Given the description of an element on the screen output the (x, y) to click on. 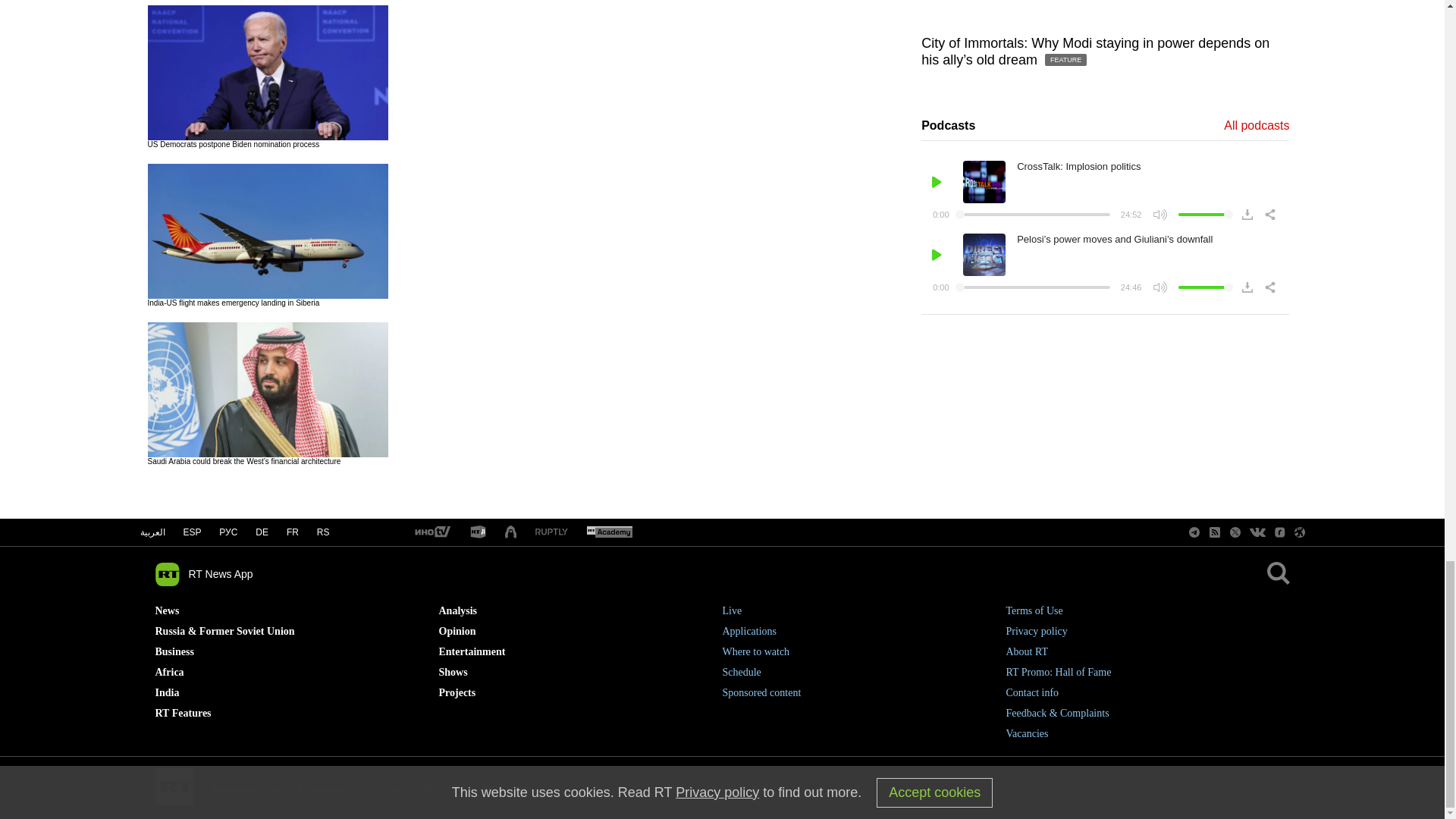
RT  (551, 532)
RT  (478, 532)
RT  (431, 532)
RT  (608, 532)
